Given the description of an element on the screen output the (x, y) to click on. 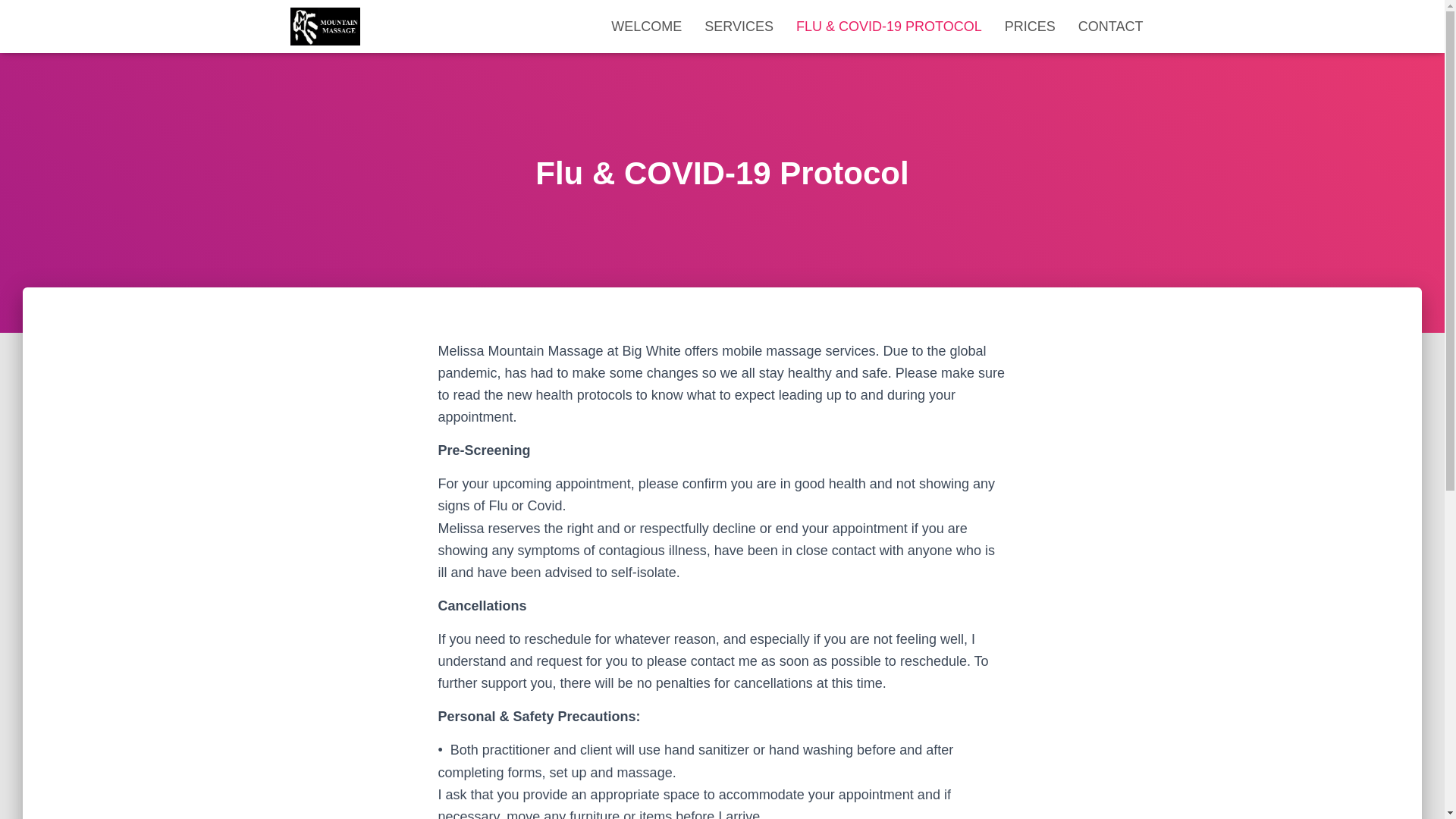
Prices (1029, 26)
WELCOME (646, 26)
Contact (1110, 26)
Welcome (646, 26)
PRICES (1029, 26)
Services (738, 26)
SERVICES (738, 26)
CONTACT (1110, 26)
